Given the description of an element on the screen output the (x, y) to click on. 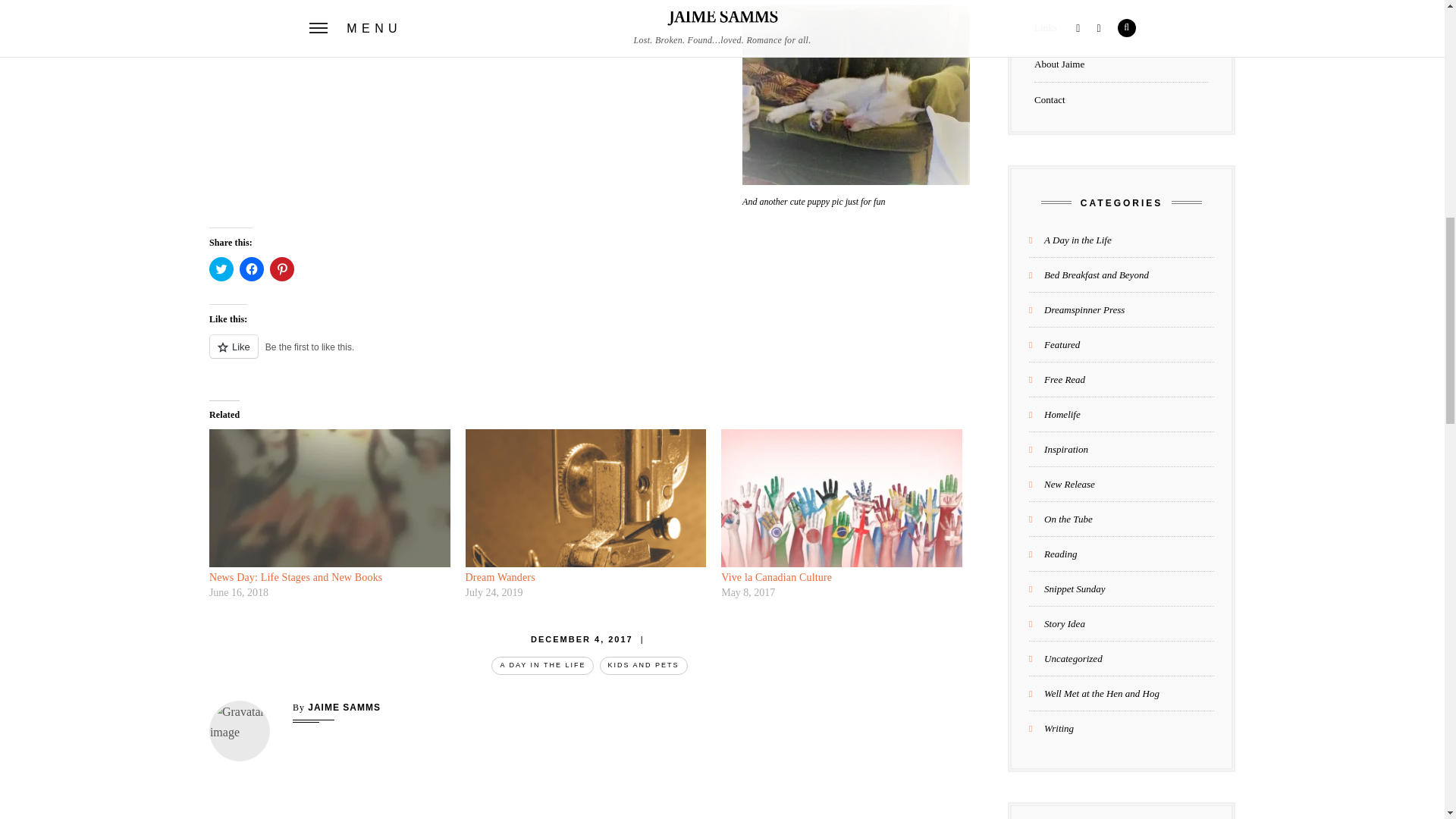
Dream Wanders (500, 577)
DECEMBER 4, 2017 (582, 638)
Like or Reblog (589, 354)
Click to share on Facebook (251, 269)
Dream Wanders (585, 498)
Click to share on Twitter (220, 269)
KIDS AND PETS (643, 665)
Vive la Canadian Culture (841, 498)
Vive la Canadian Culture (775, 577)
News Day: Life Stages and New Books (295, 577)
Vive la Canadian Culture (775, 577)
Click to share on Pinterest (281, 269)
JAIME SAMMS (343, 706)
Dream Wanders (500, 577)
News Day: Life Stages and New Books (329, 498)
